Given the description of an element on the screen output the (x, y) to click on. 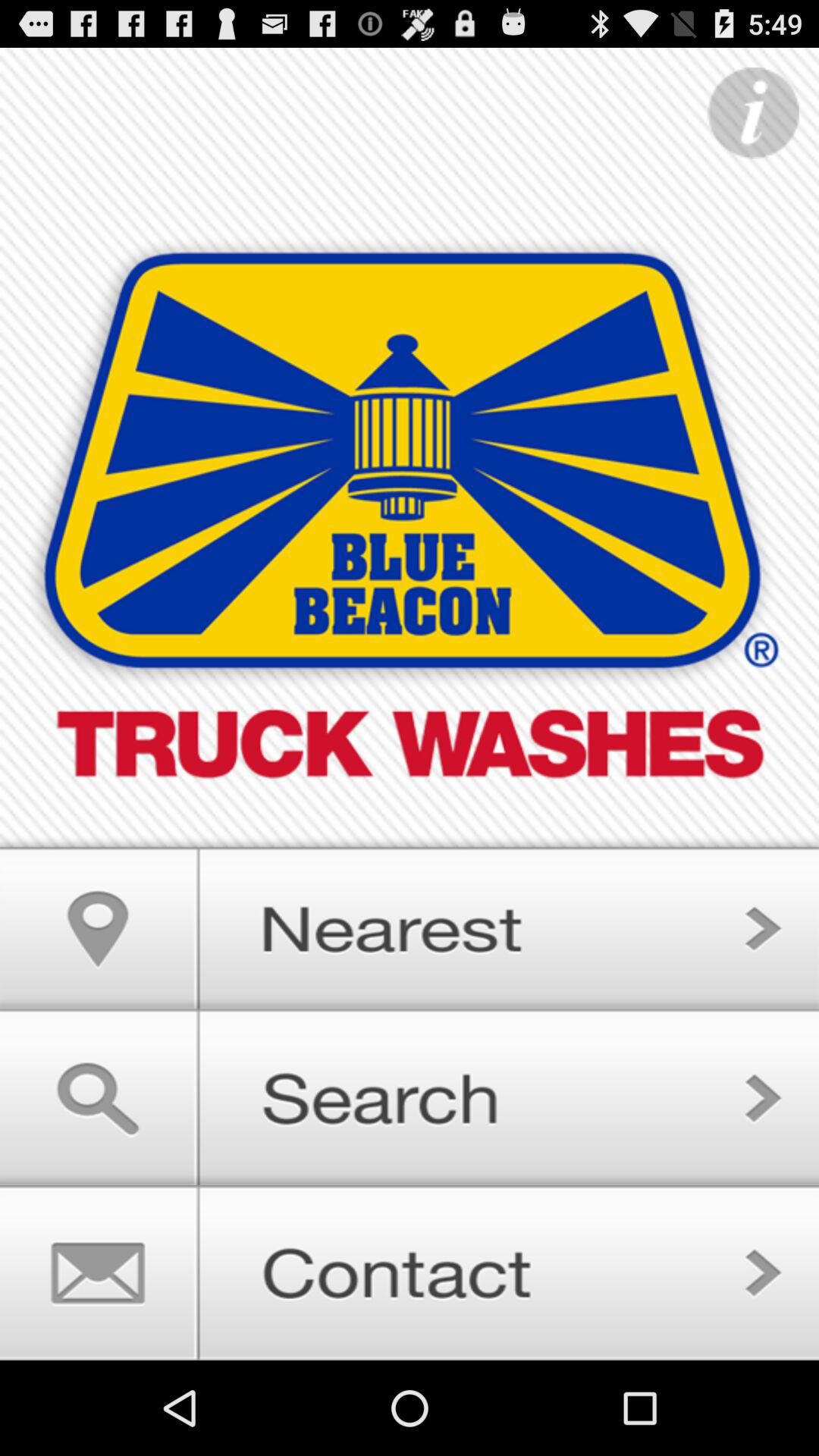
search nearby (409, 922)
